Given the description of an element on the screen output the (x, y) to click on. 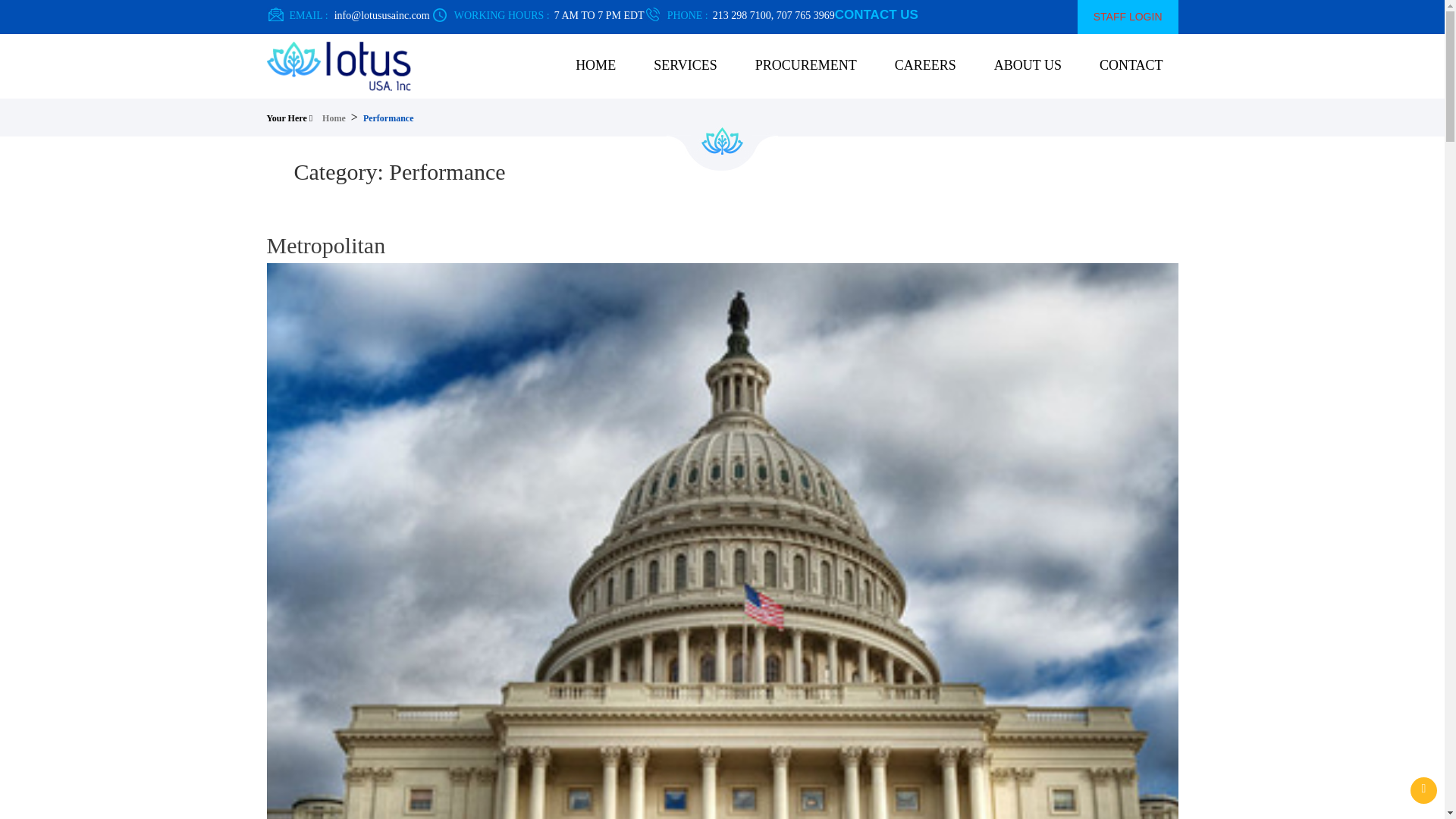
SERVICES (685, 65)
STAFF LOGIN (1127, 17)
CAREERS (925, 65)
CONTACT (1130, 65)
ABOUT US (1027, 65)
HOME (595, 65)
PROCUREMENT (805, 65)
CONTACT US (876, 14)
Metropolitan (325, 244)
Home (333, 118)
